Given the description of an element on the screen output the (x, y) to click on. 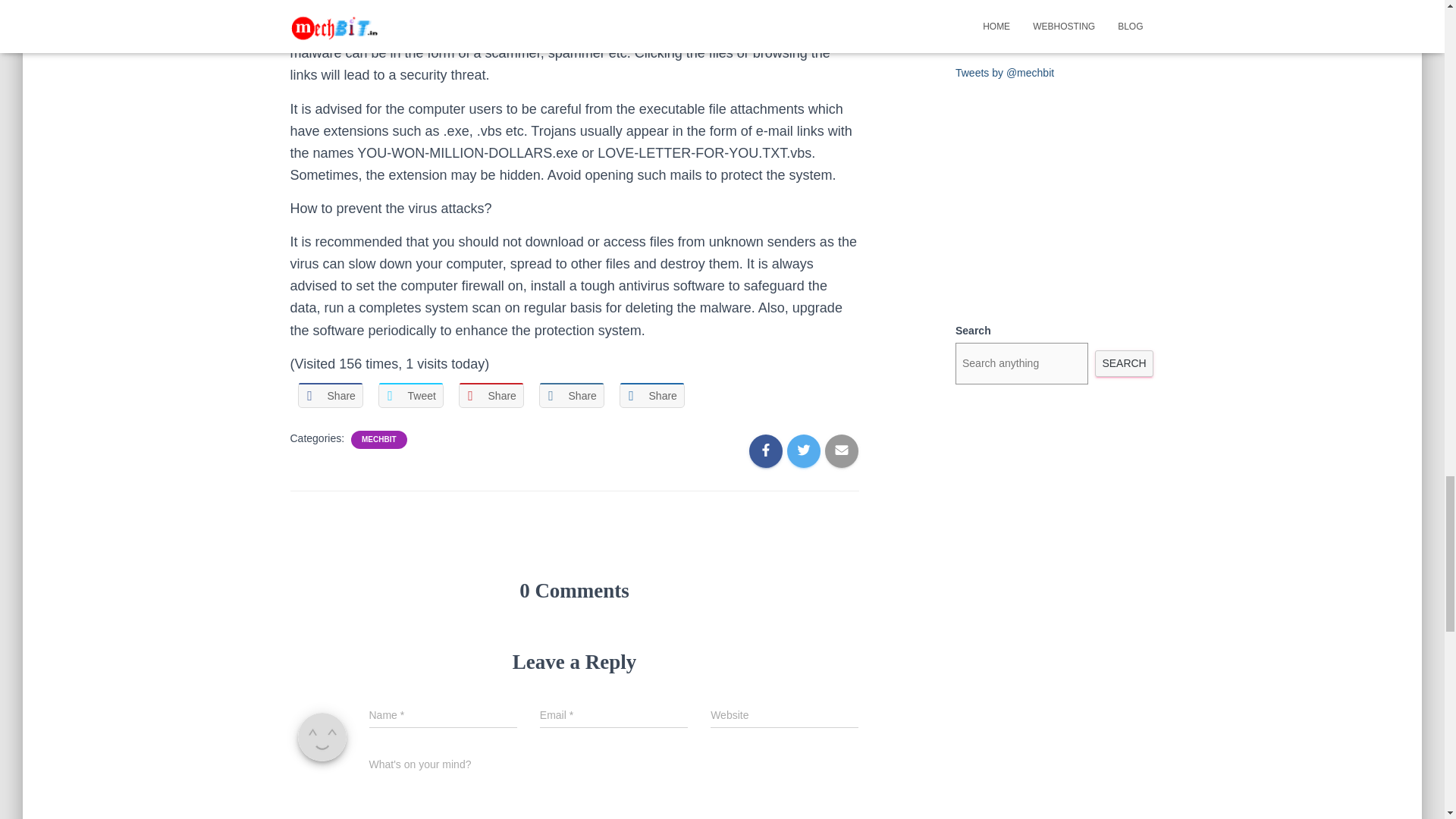
Share on Facebook (329, 395)
Tweet (409, 395)
Share on LinkedIn (571, 395)
Share on Digg (651, 395)
Share on Twitter (409, 395)
Share (329, 395)
MECHBIT (378, 439)
Share (490, 395)
SEARCH (1124, 363)
Share on Pinterest (490, 395)
Share (651, 395)
Share (571, 395)
